Given the description of an element on the screen output the (x, y) to click on. 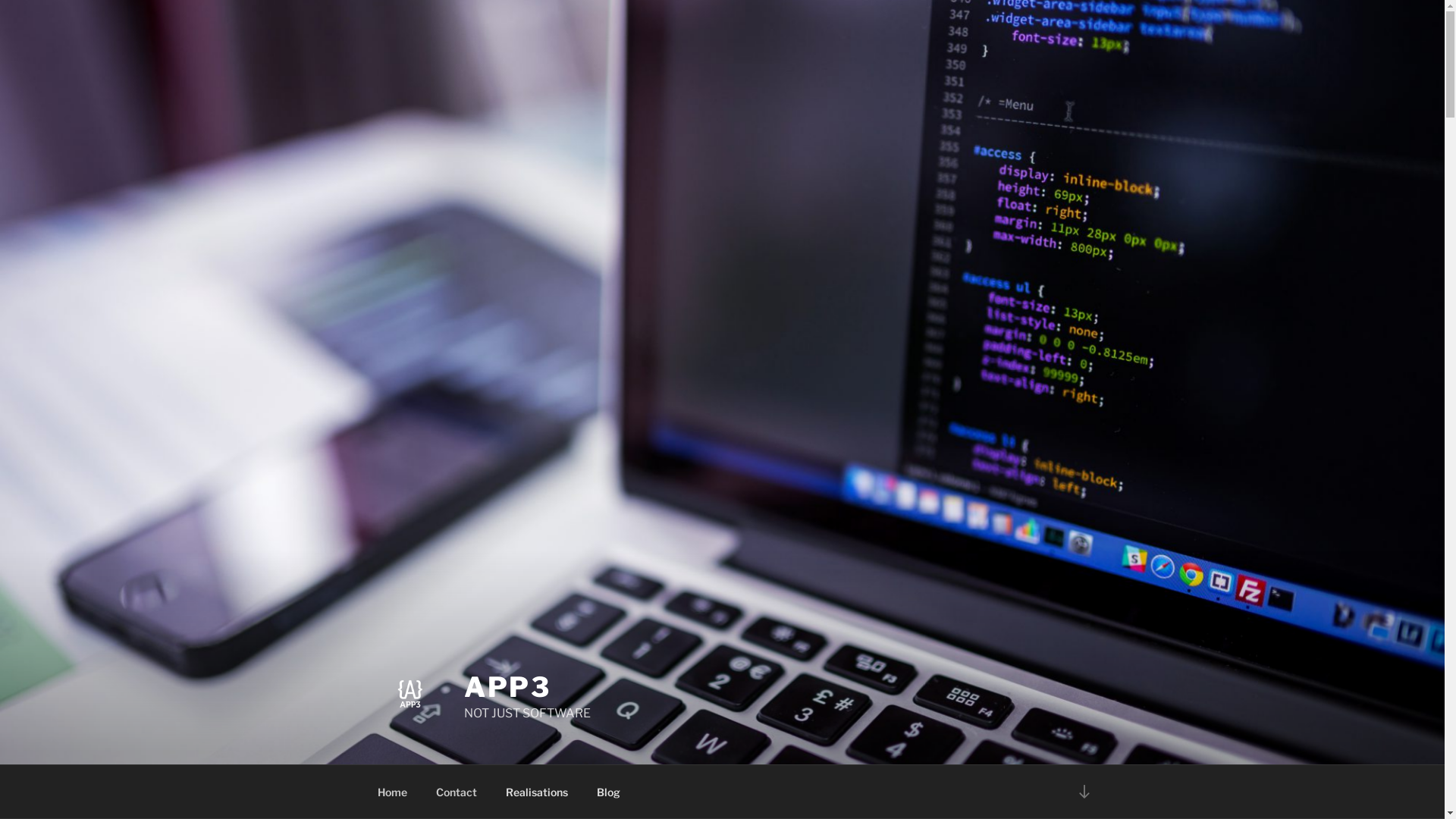
Scroll down to content Element type: text (1083, 790)
APP3 Element type: text (508, 686)
Home Element type: text (392, 791)
Blog Element type: text (608, 791)
Realisations Element type: text (536, 791)
Skip to content Element type: text (0, 0)
Contact Element type: text (456, 791)
